Given the description of an element on the screen output the (x, y) to click on. 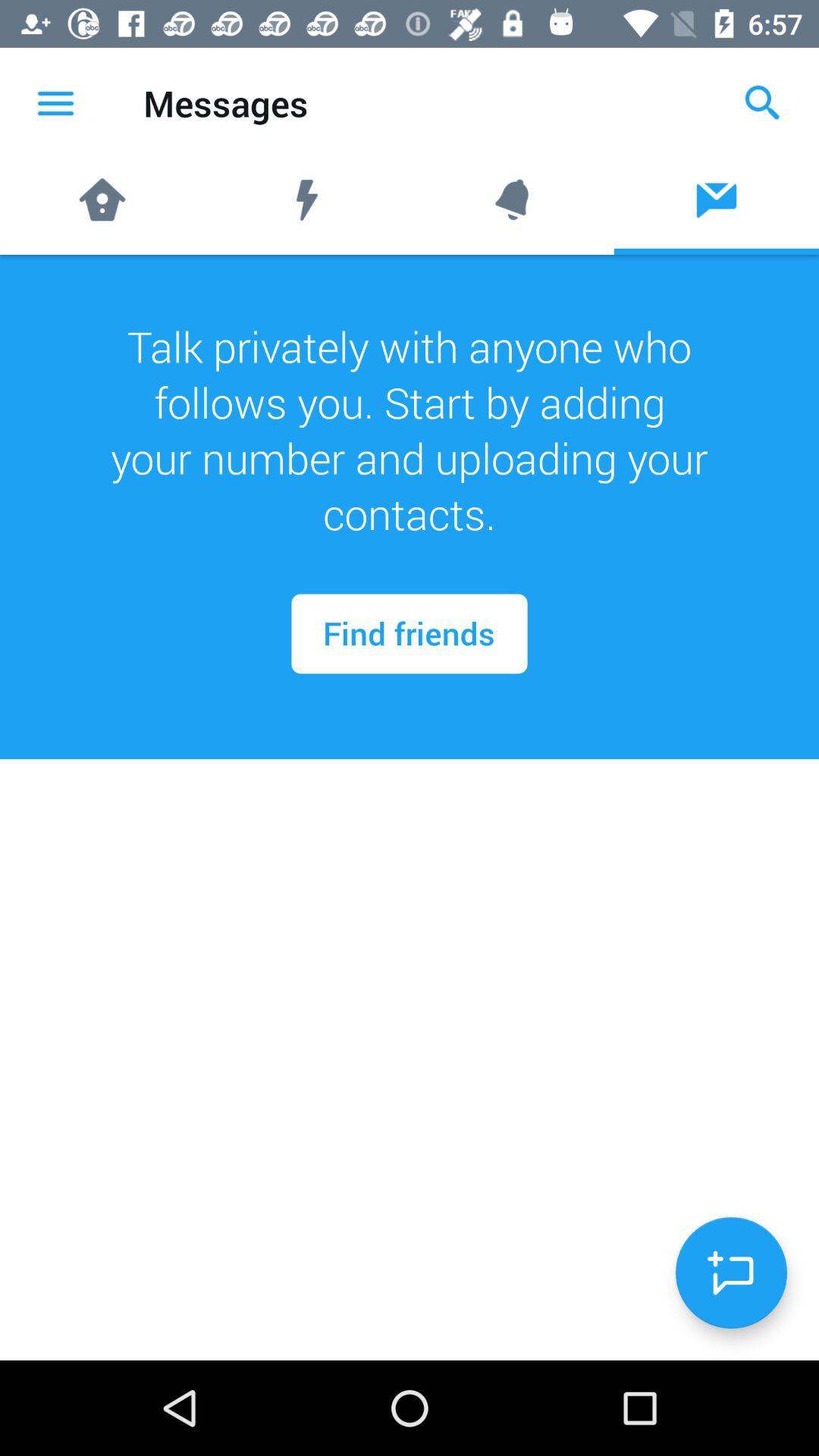
tap the find friends at the center (409, 633)
